Given the description of an element on the screen output the (x, y) to click on. 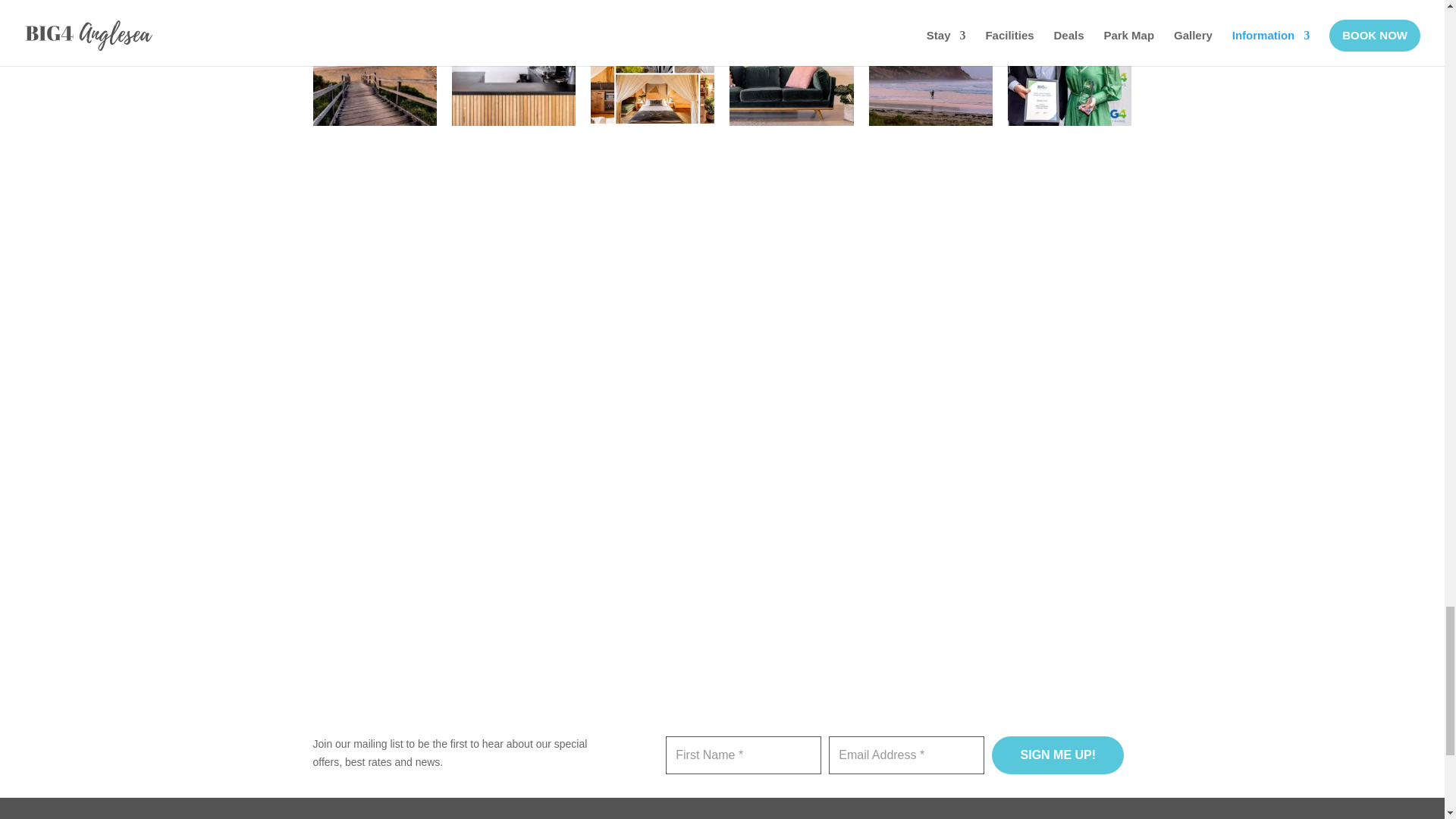
SIGN ME UP! (1057, 754)
